Given the description of an element on the screen output the (x, y) to click on. 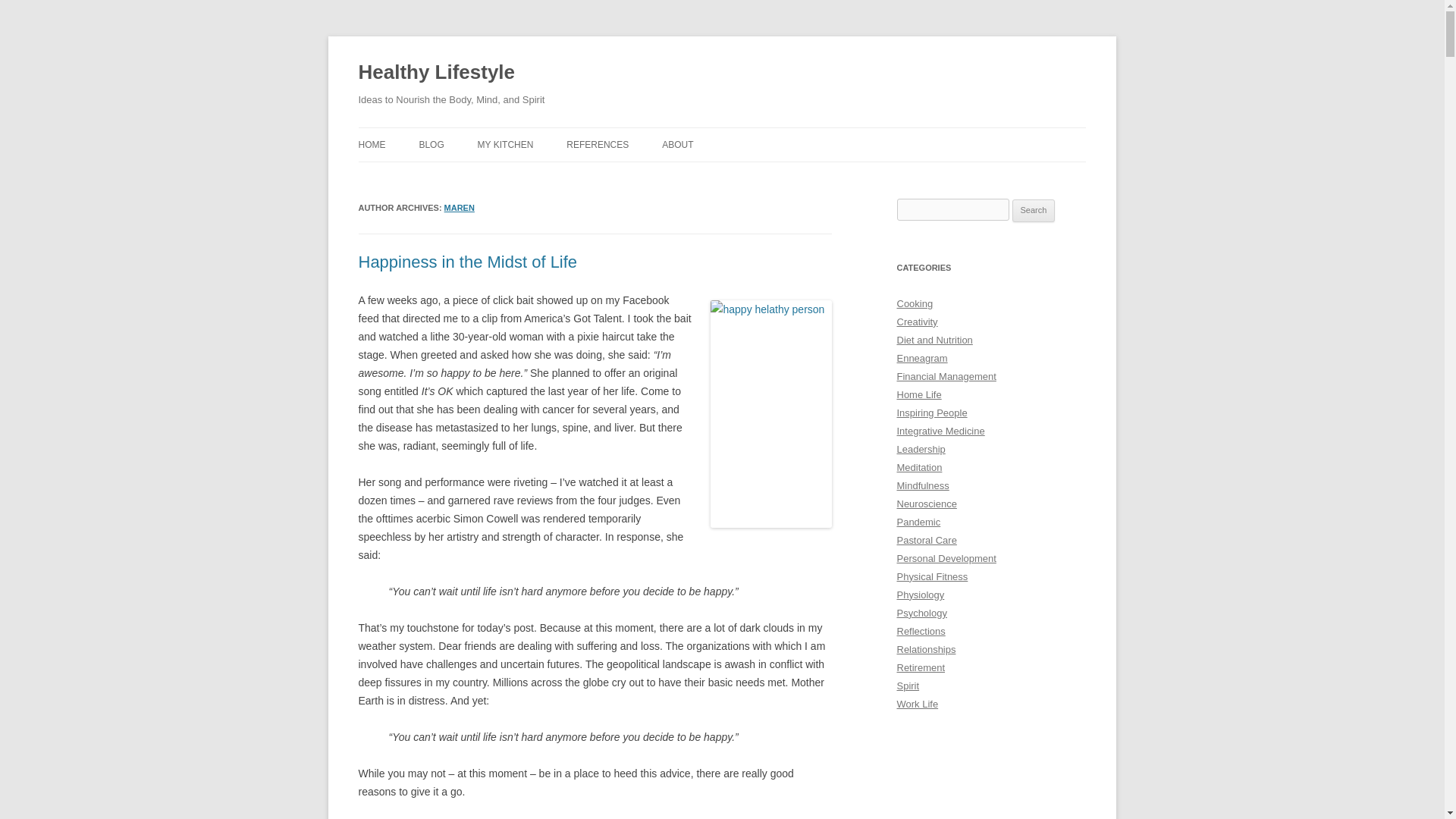
REFERENCES (597, 144)
ABOUT (677, 144)
MAREN (459, 207)
Search (1033, 210)
MY KITCHEN (505, 144)
Happiness in the Midst of Life (467, 261)
Healthy Lifestyle (436, 72)
